Given the description of an element on the screen output the (x, y) to click on. 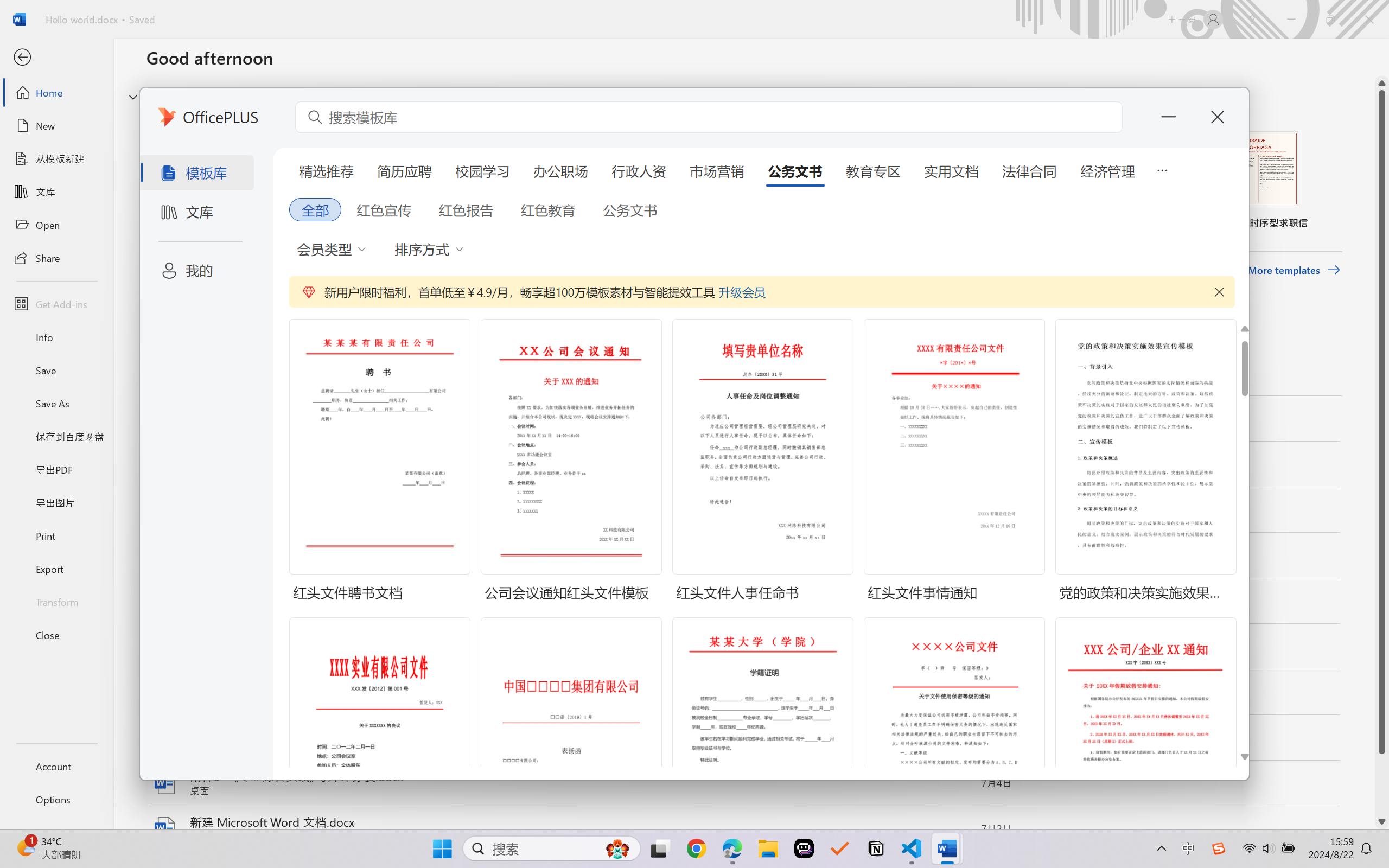
Help (1252, 19)
New (56, 125)
Notion (875, 848)
Google Chrome (696, 848)
Share (56, 257)
